Given the description of an element on the screen output the (x, y) to click on. 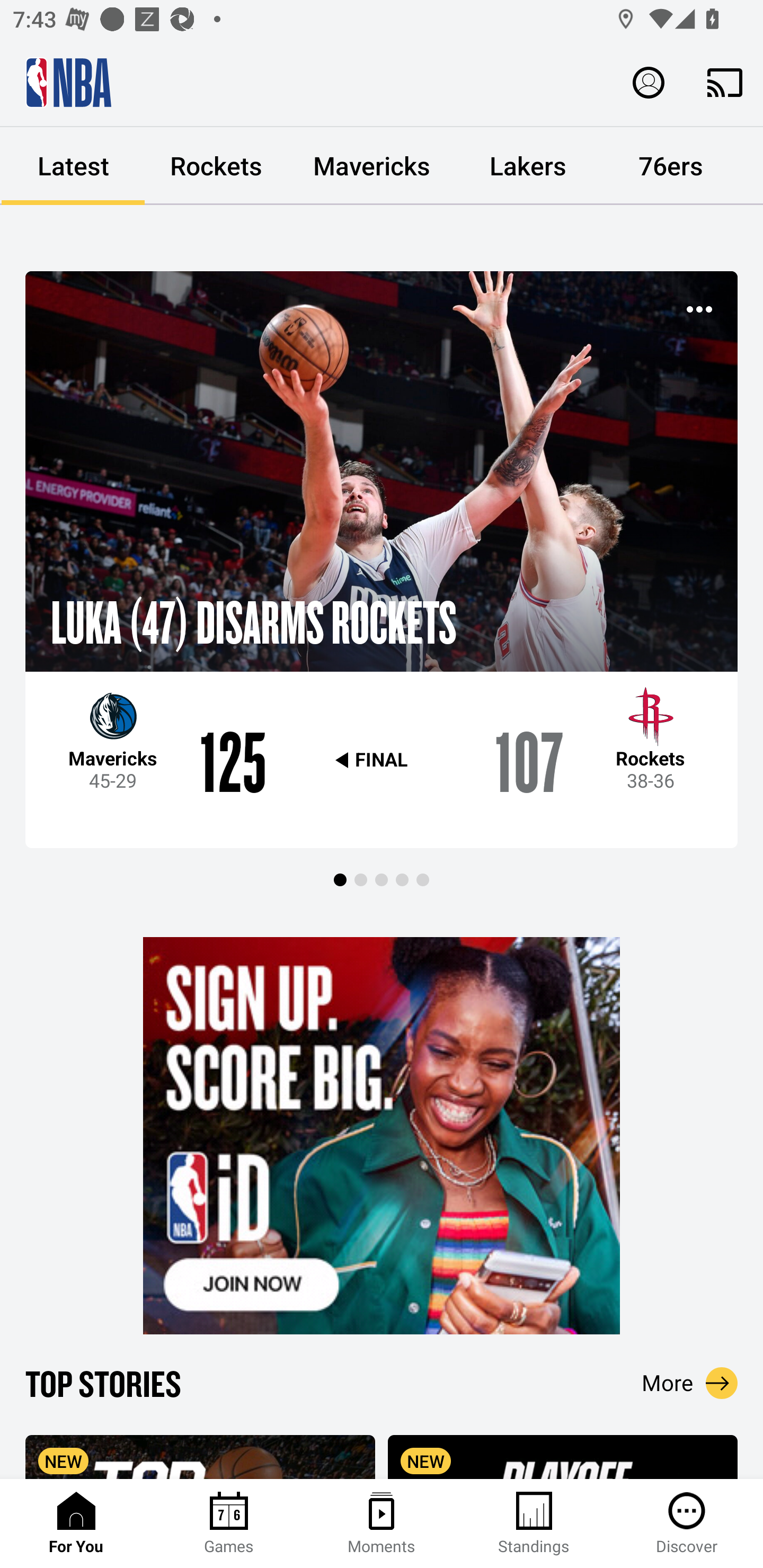
Cast. Disconnected (724, 82)
Profile (648, 81)
Rockets (215, 166)
Mavericks (371, 166)
Lakers (527, 166)
76ers (670, 166)
More (689, 1382)
Games (228, 1523)
Moments (381, 1523)
Standings (533, 1523)
Discover (686, 1523)
